Given the description of an element on the screen output the (x, y) to click on. 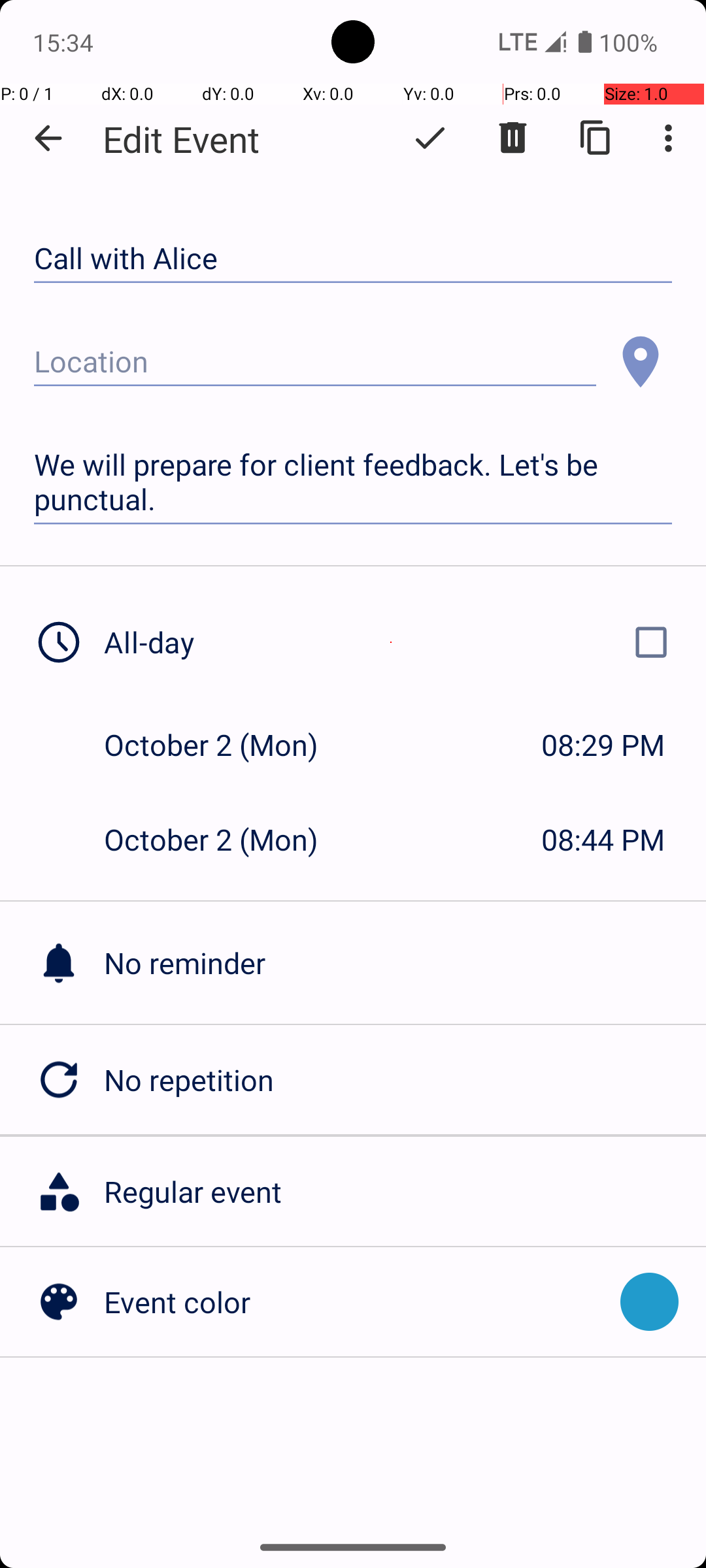
We will prepare for client feedback. Let's be punctual. Element type: android.widget.EditText (352, 482)
October 2 (Mon) Element type: android.widget.TextView (224, 744)
08:29 PM Element type: android.widget.TextView (602, 744)
08:44 PM Element type: android.widget.TextView (602, 838)
